Given the description of an element on the screen output the (x, y) to click on. 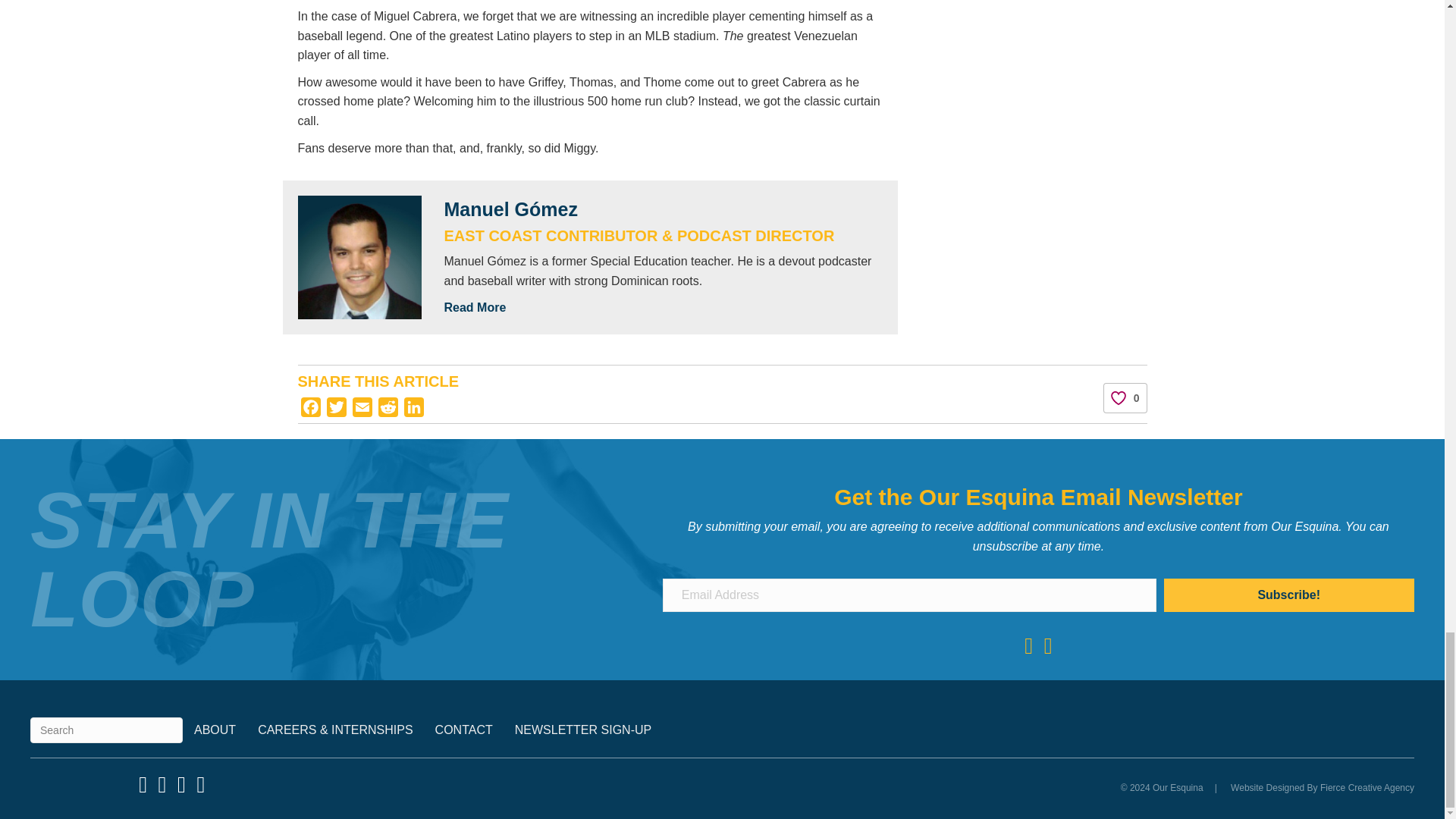
Manuel Gomez (360, 257)
Reddit (387, 410)
Search (106, 729)
Read More (663, 307)
Search (106, 729)
Type and press Enter to search. (106, 729)
Facebook (310, 410)
Twitter (336, 410)
LinkedIn (413, 410)
Email (361, 410)
